Given the description of an element on the screen output the (x, y) to click on. 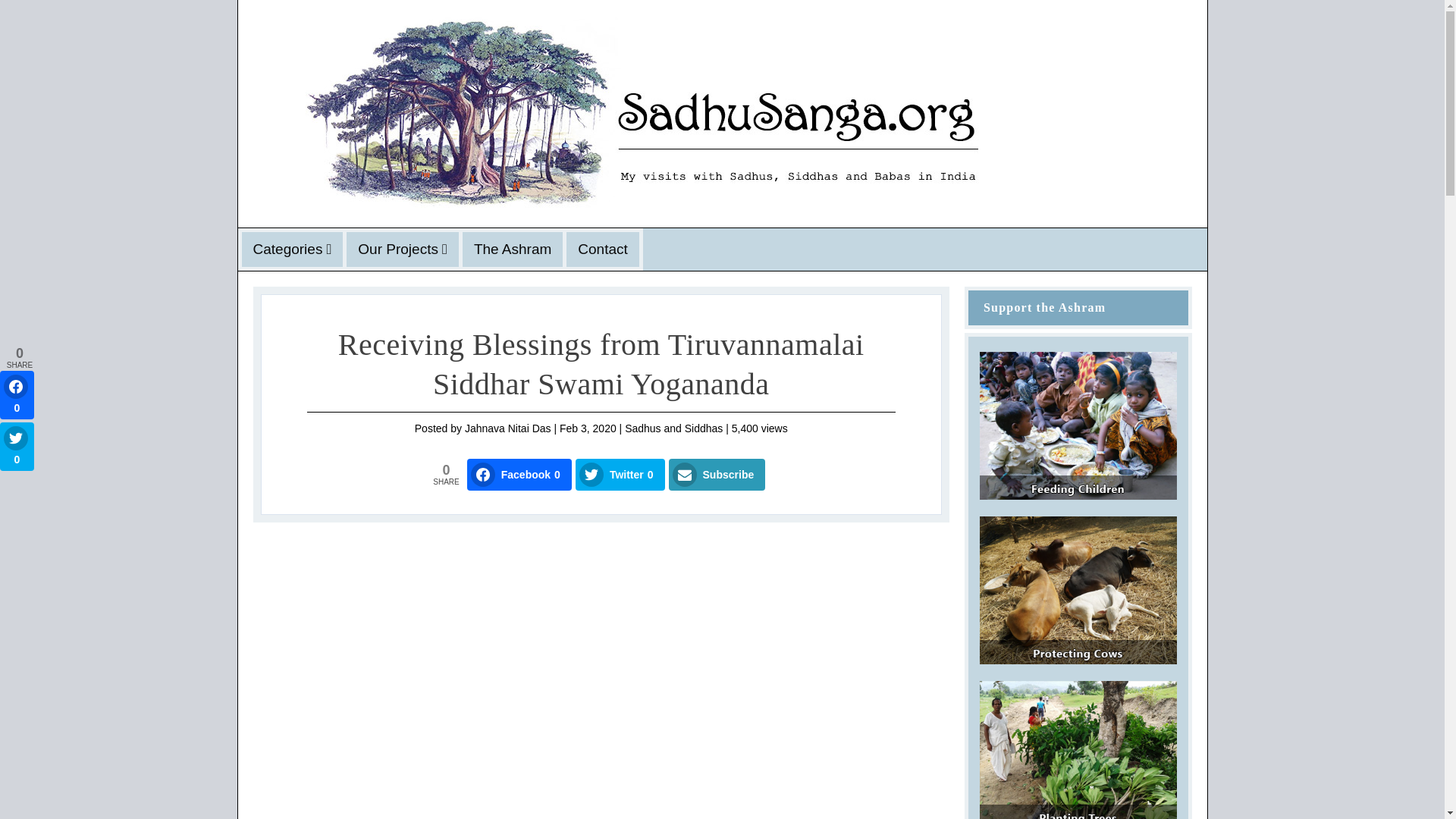
Our Projects (402, 249)
The Ashram (512, 249)
Sadhus and Siddhas (673, 428)
Categories (292, 249)
Subscribe (716, 474)
Share on Facebook (519, 474)
Share on Subscribe (716, 474)
Contact (602, 249)
Posts by Jahnava Nitai Das (507, 428)
Facebook0 (519, 474)
Jahnava Nitai Das (507, 428)
Twitter0 (620, 474)
Share on Twitter (620, 474)
